Given the description of an element on the screen output the (x, y) to click on. 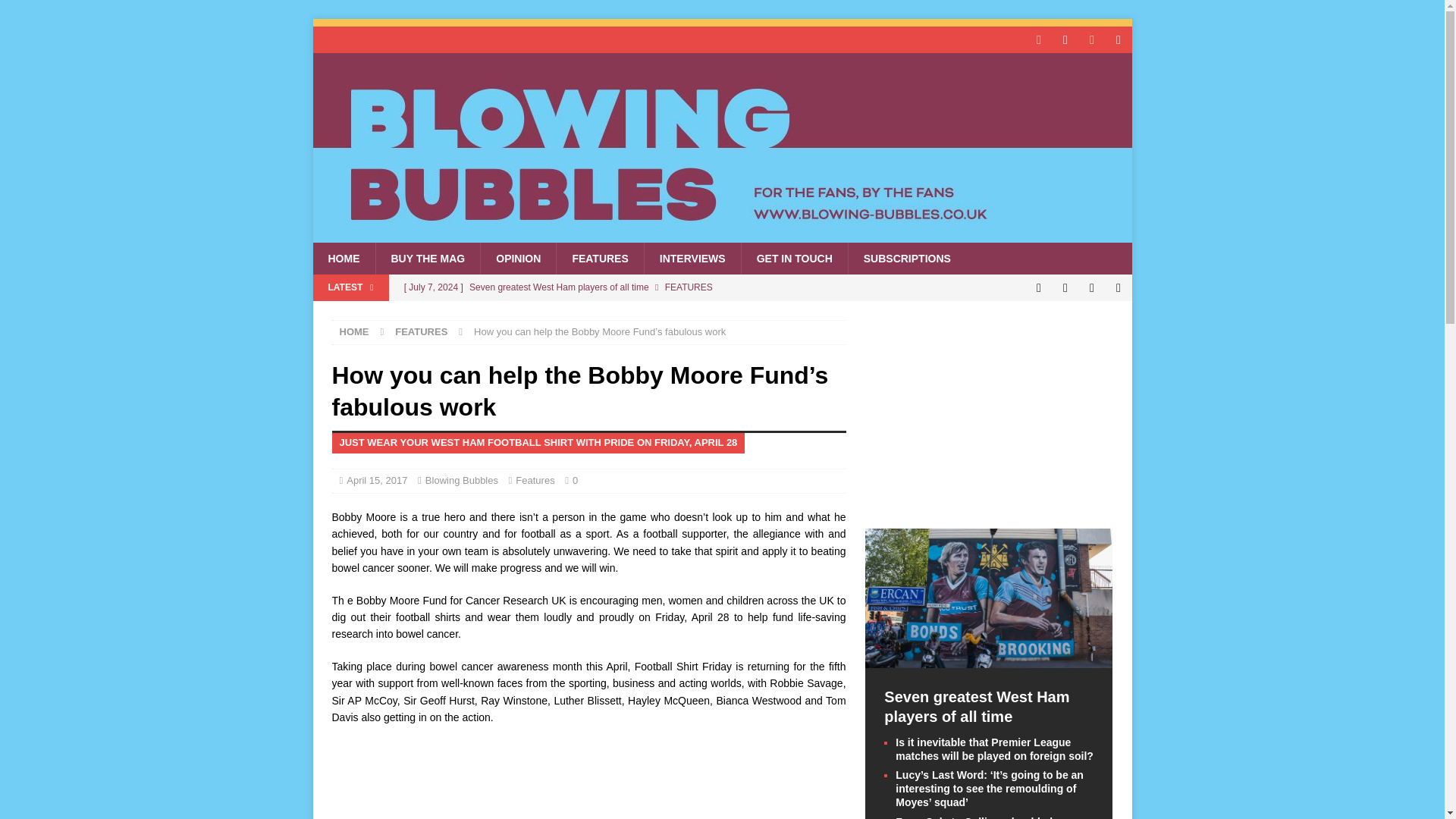
FEATURES (420, 331)
Blowing Bubbles (461, 480)
Features (534, 480)
Blowing Bubbles (722, 234)
FEATURES (599, 258)
OPINION (518, 258)
INTERVIEWS (692, 258)
BUY THE MAG (427, 258)
GET IN TOUCH (794, 258)
